Given the description of an element on the screen output the (x, y) to click on. 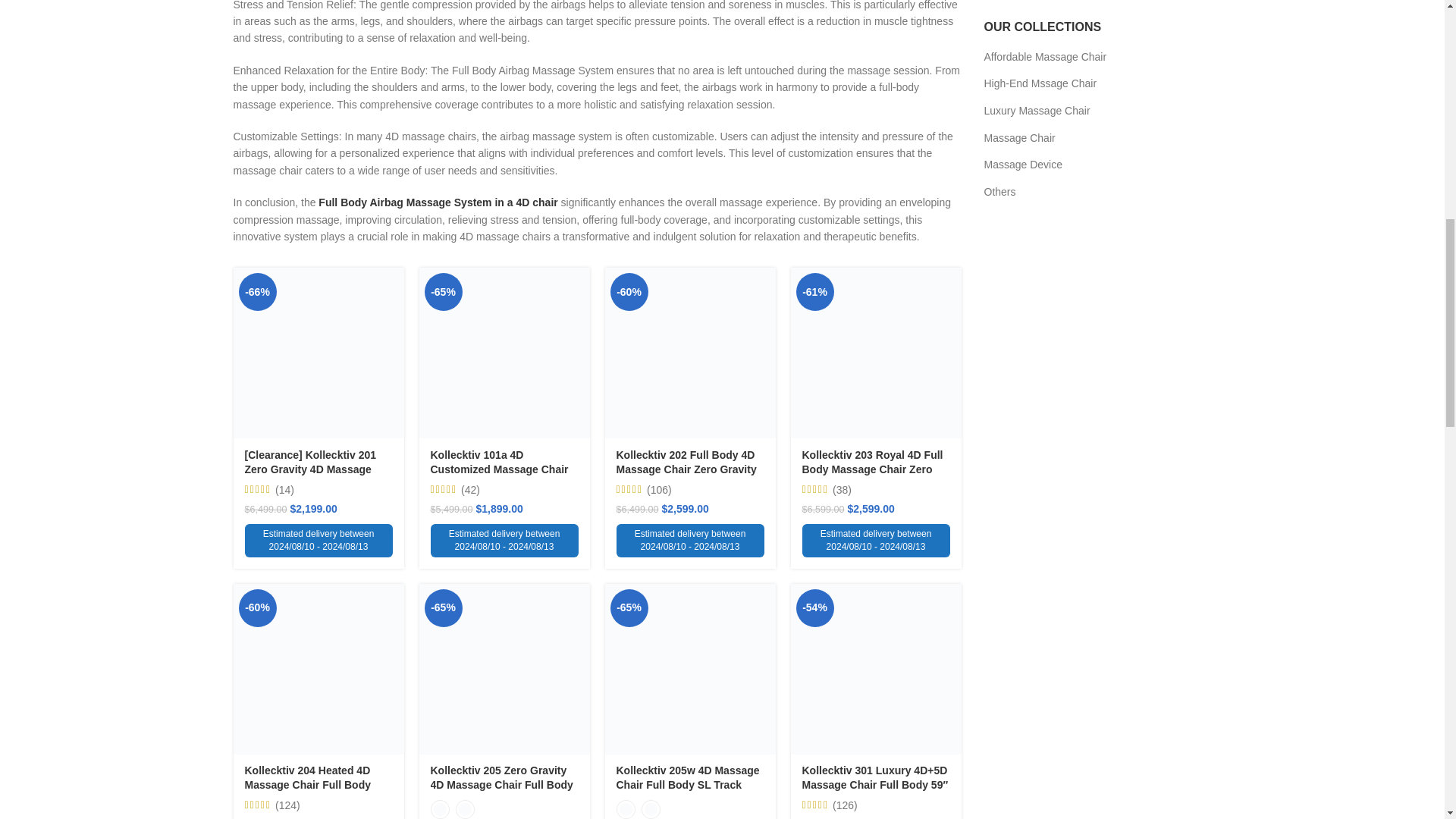
Full Body Airbag Massage System in a 4D chair (437, 202)
